Given the description of an element on the screen output the (x, y) to click on. 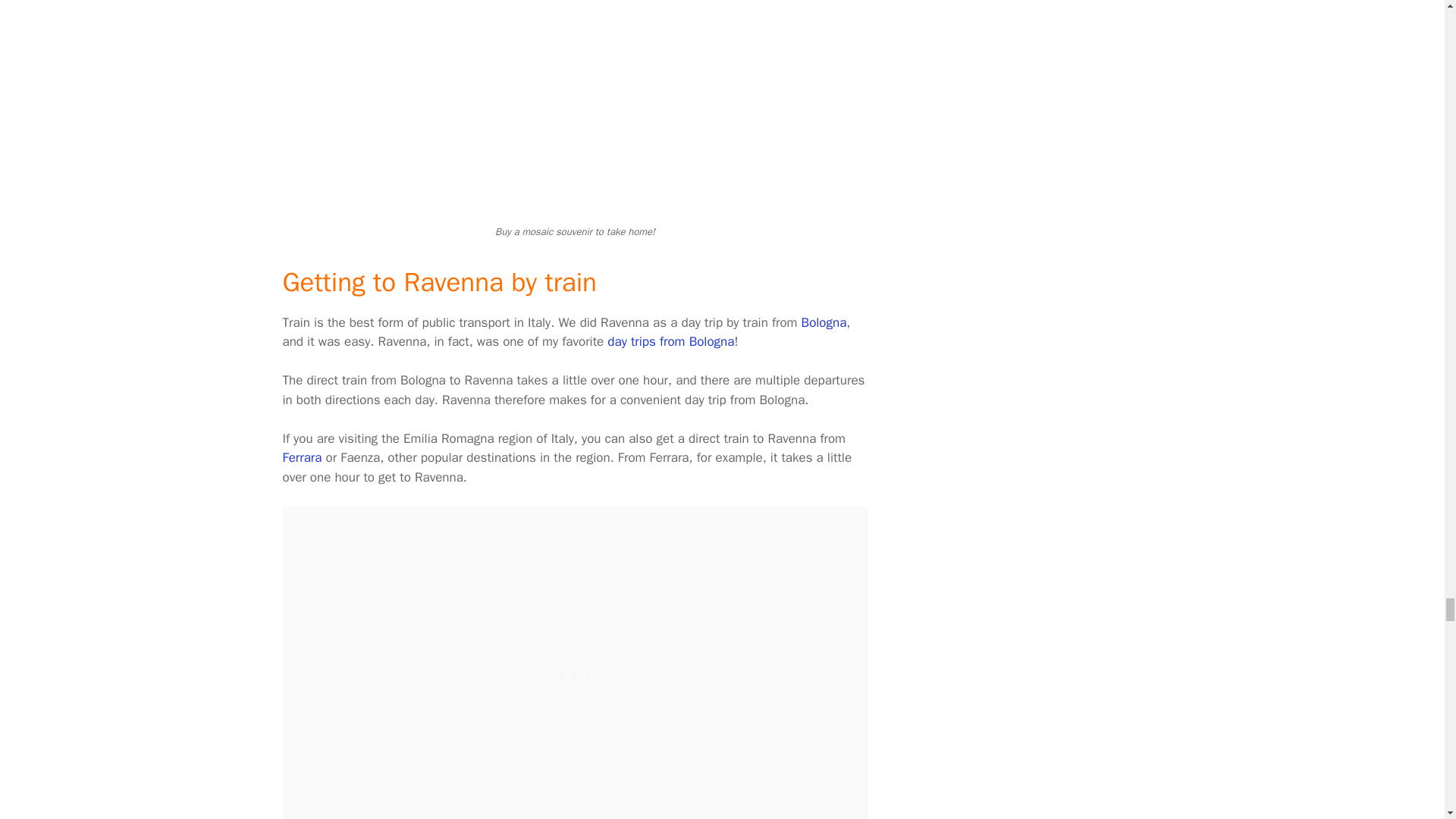
Ferrara (301, 457)
day trips from Bologna (670, 341)
Bologna (824, 322)
